Given the description of an element on the screen output the (x, y) to click on. 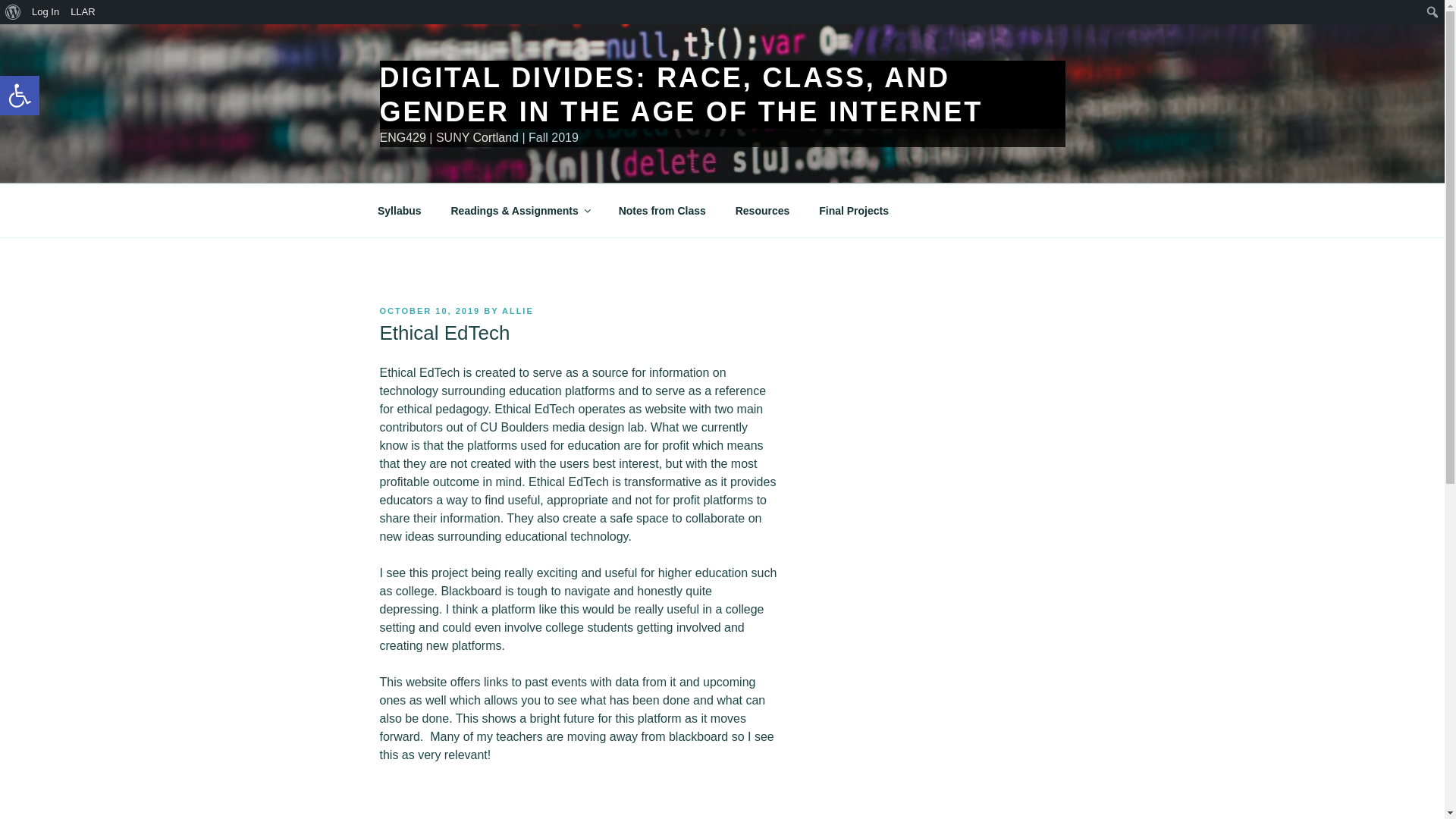
Accessibility Tools (19, 95)
About WordPress (19, 95)
Accessibility Tools (13, 12)
Notes from Class (19, 95)
Search (662, 211)
Syllabus (15, 12)
LLAR (398, 211)
Resources (83, 12)
Log In (762, 211)
